Given the description of an element on the screen output the (x, y) to click on. 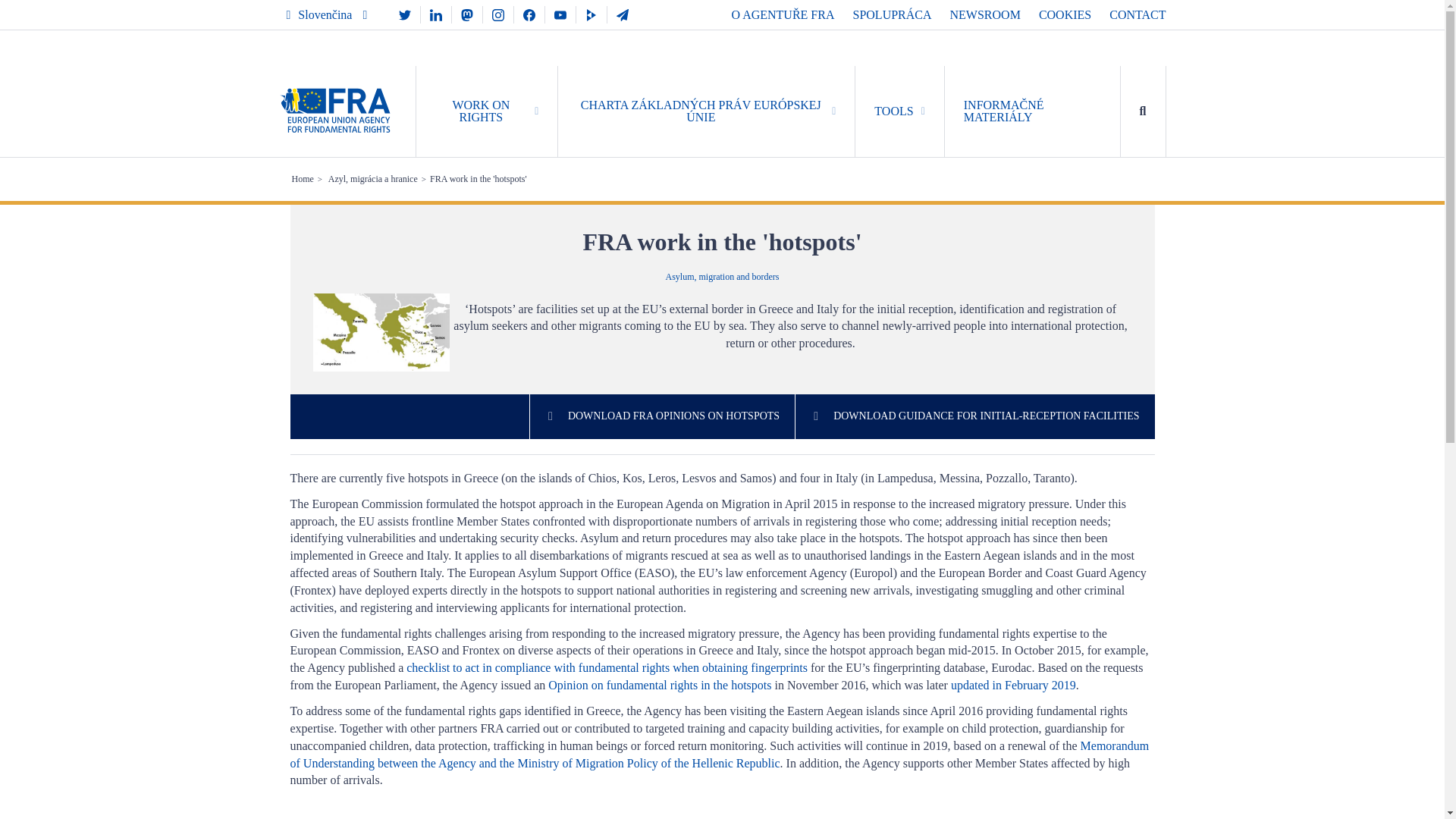
Subscribe to FRA's newsletter (622, 13)
FRA's Facebook channel (528, 13)
FRA's PeerTube channel (591, 13)
Newsletter (622, 13)
Mastodon (466, 13)
FRA's YouTube channel (559, 13)
FRA's Mastodon channel (466, 13)
Twitter (405, 13)
FRA's LinkedIn channel (435, 13)
PeerTube (591, 13)
FRA's Twitter channel (405, 13)
NEWSROOM (985, 14)
YouTube (559, 13)
FRA's Instagram channel (498, 13)
CONTACT (1137, 14)
